Given the description of an element on the screen output the (x, y) to click on. 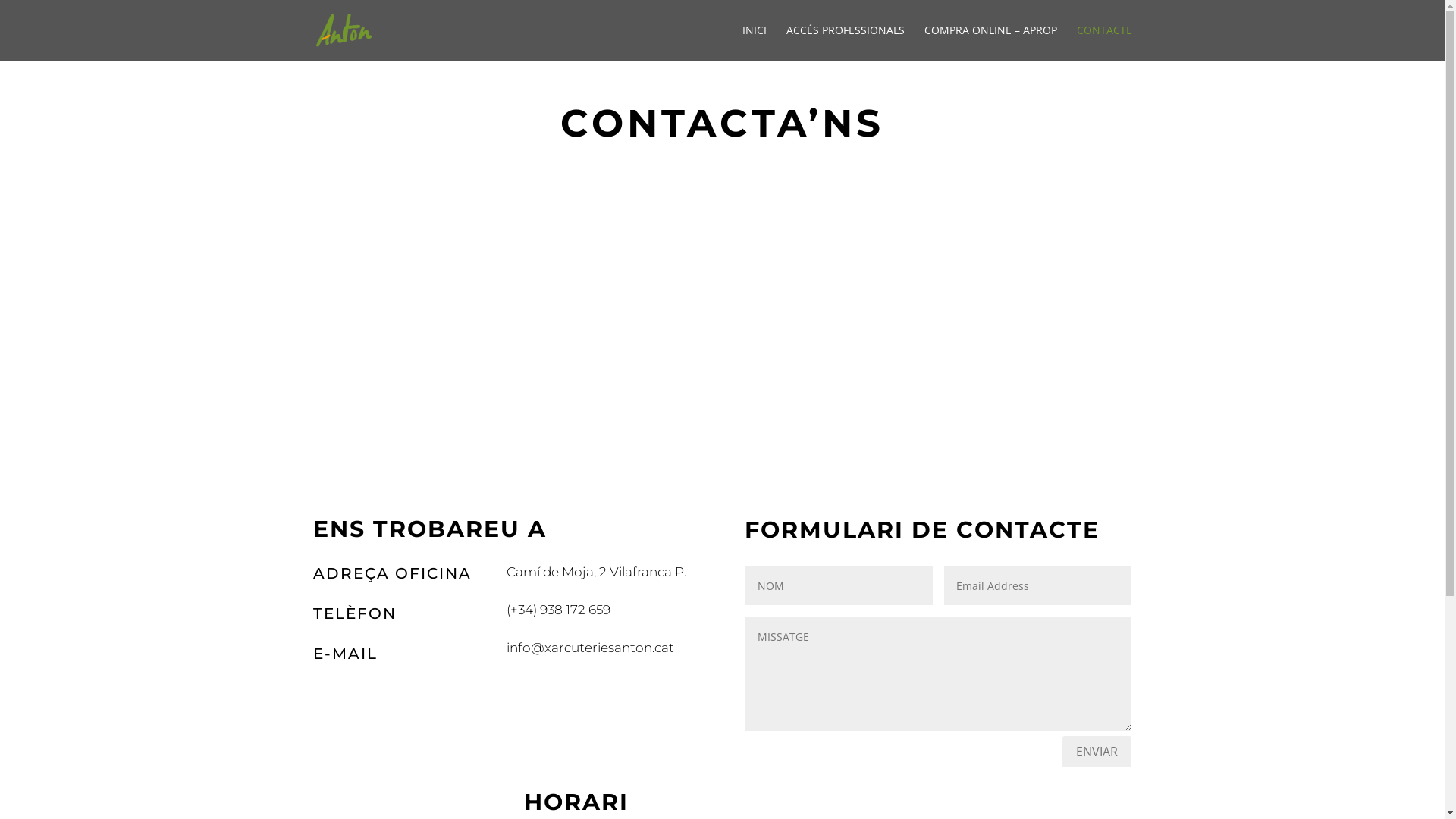
ENVIAR Element type: text (1096, 751)
INICI Element type: text (753, 42)
CONTACTE Element type: text (1104, 42)
